Given the description of an element on the screen output the (x, y) to click on. 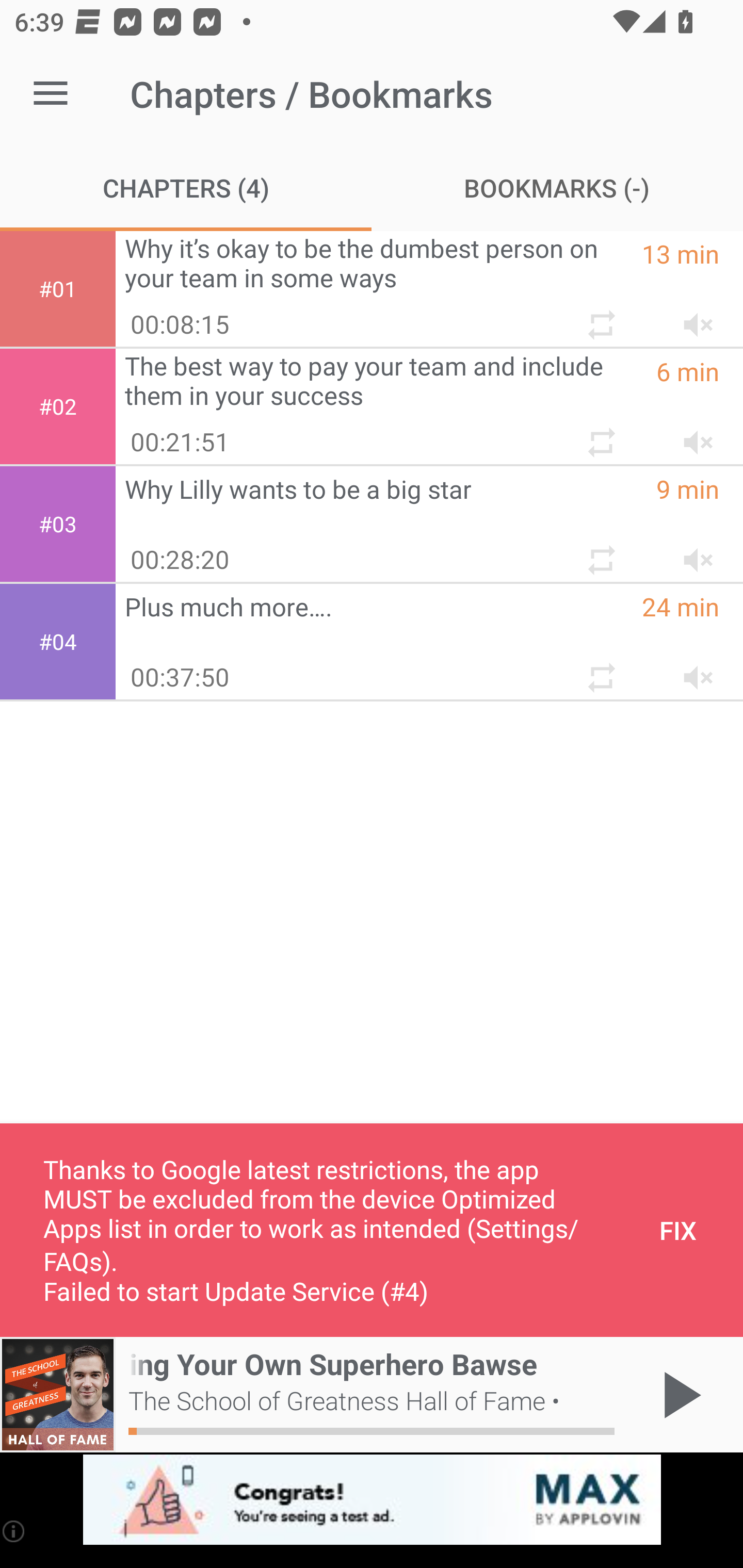
Open navigation sidebar (50, 93)
Bookmarks (-) BOOKMARKS (-) (557, 187)
Repeat chapter (599, 317)
Mute chapter (692, 317)
Repeat chapter (599, 435)
Mute chapter (692, 435)
Repeat chapter (599, 552)
Mute chapter (692, 552)
Repeat chapter (599, 670)
Mute chapter (692, 670)
FIX (677, 1229)
Play / Pause (677, 1394)
app-monetization (371, 1500)
(i) (14, 1531)
